Given the description of an element on the screen output the (x, y) to click on. 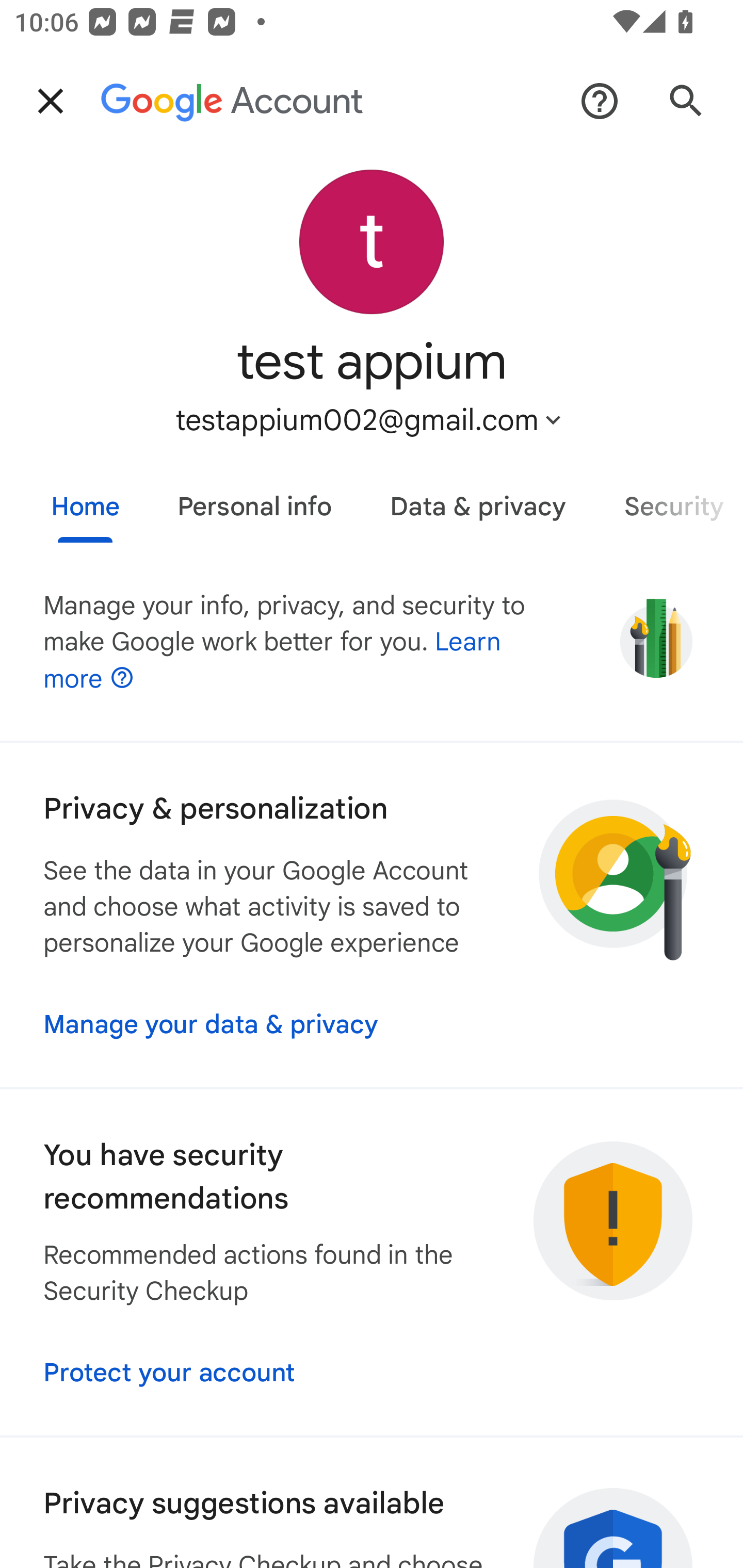
Close (50, 101)
Help (599, 101)
Search (685, 101)
Personal info (254, 499)
Data & privacy (477, 499)
Security (669, 499)
